Given the description of an element on the screen output the (x, y) to click on. 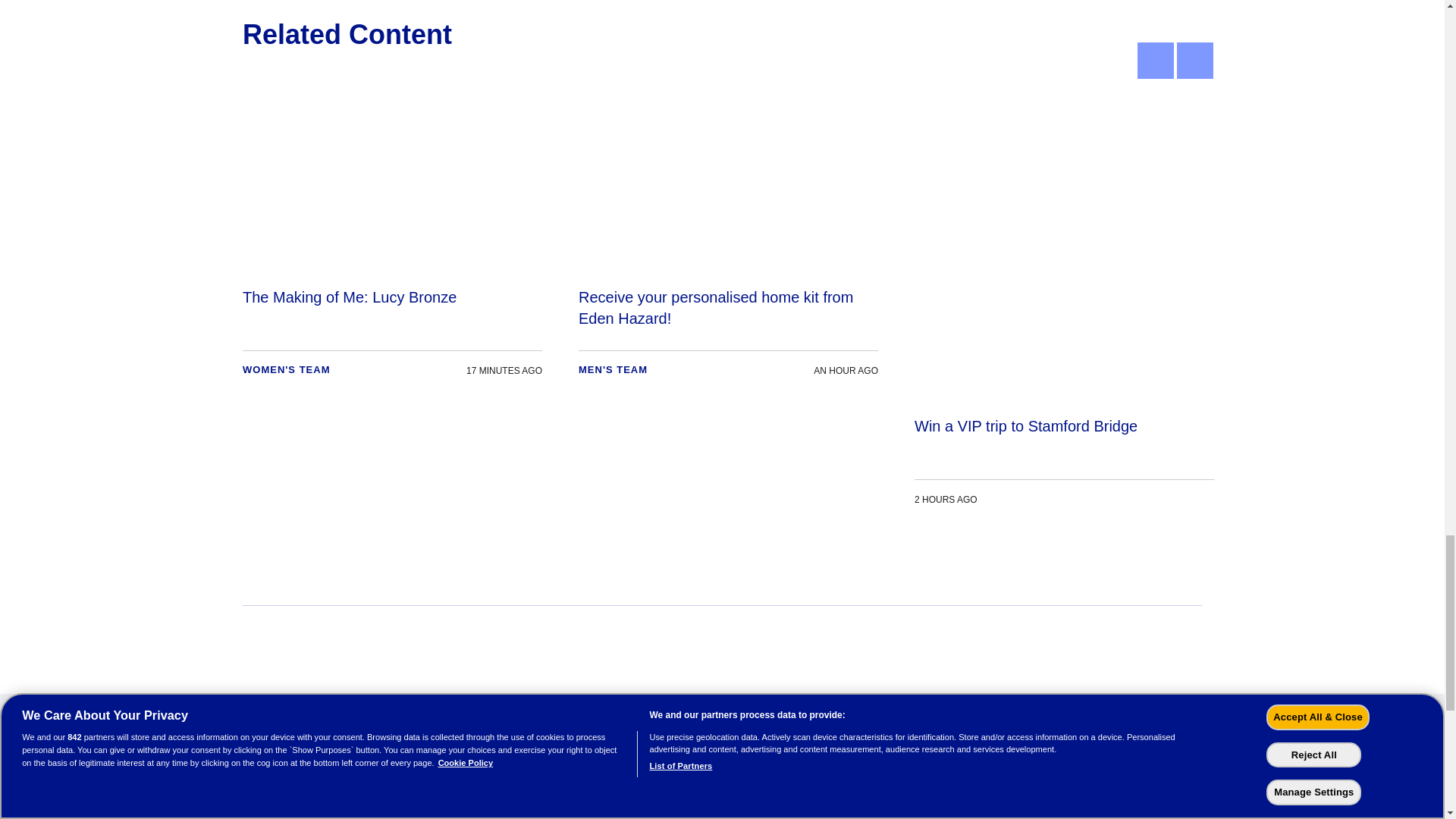
The Making of Me: Lucy Bronze (392, 243)
Receive your personalised home kit from Eden Hazard! (727, 243)
